Given the description of an element on the screen output the (x, y) to click on. 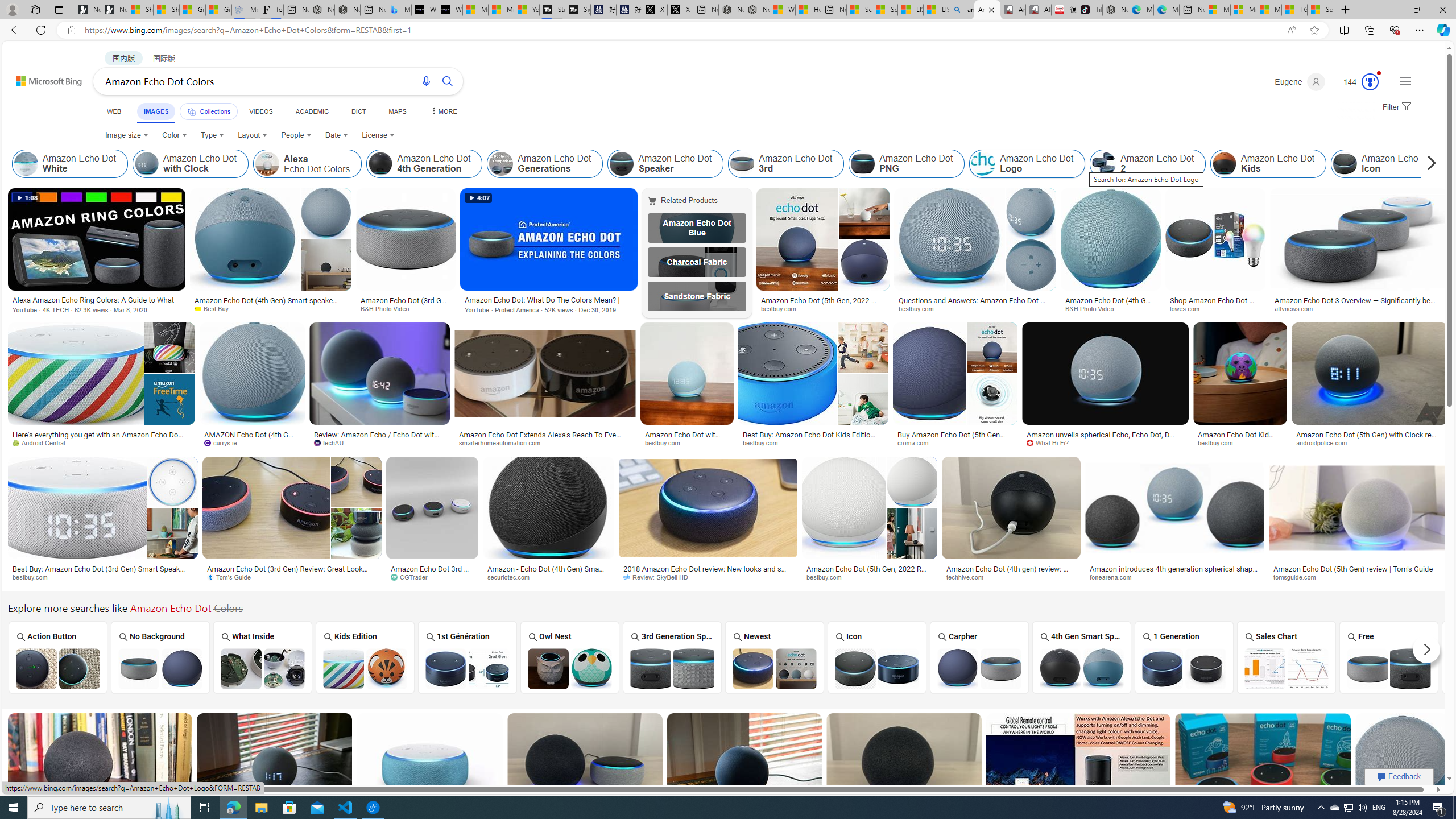
TikTok (1089, 9)
Newest Amazon Echo Dot Newest (774, 656)
Amazon Echo Dot 4th Generation (423, 163)
Gilma and Hector both pose tropical trouble for Hawaii (217, 9)
Image size (126, 135)
Alexa Amazon Echo Ring Colors: A Guide to What they Mean (96, 300)
IMAGES (156, 111)
Amazon Echo Dot Icon Icon (877, 656)
Settings and quick links (1404, 80)
